Given the description of an element on the screen output the (x, y) to click on. 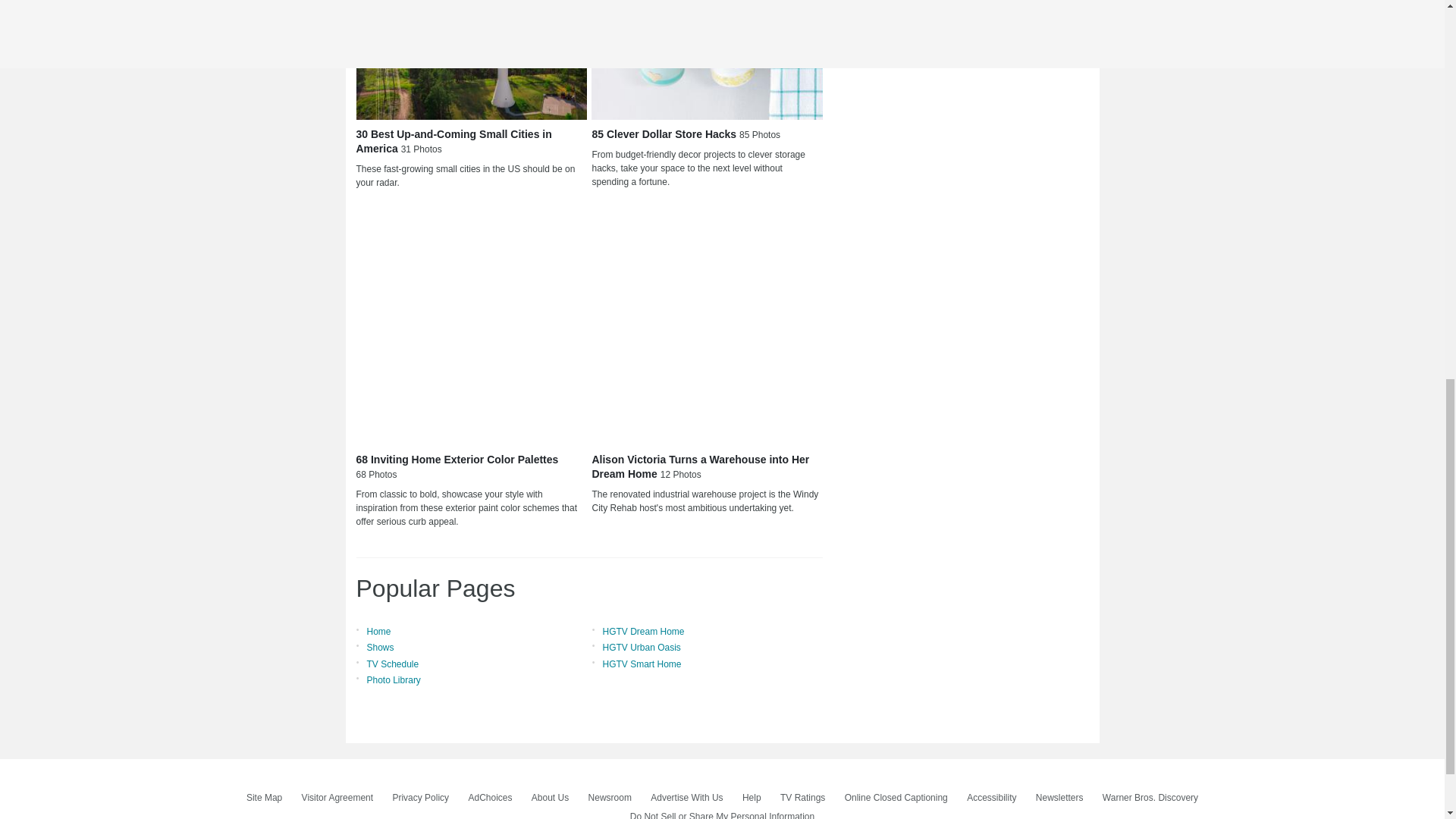
30 Best Up-and-Coming Small Cities in America (472, 59)
85 Clever Dollar Store Hacks (706, 59)
68 Inviting Home Exterior Color Palettes (472, 328)
Alison Victoria Turns a Warehouse into Her Dream Home (706, 328)
